Given the description of an element on the screen output the (x, y) to click on. 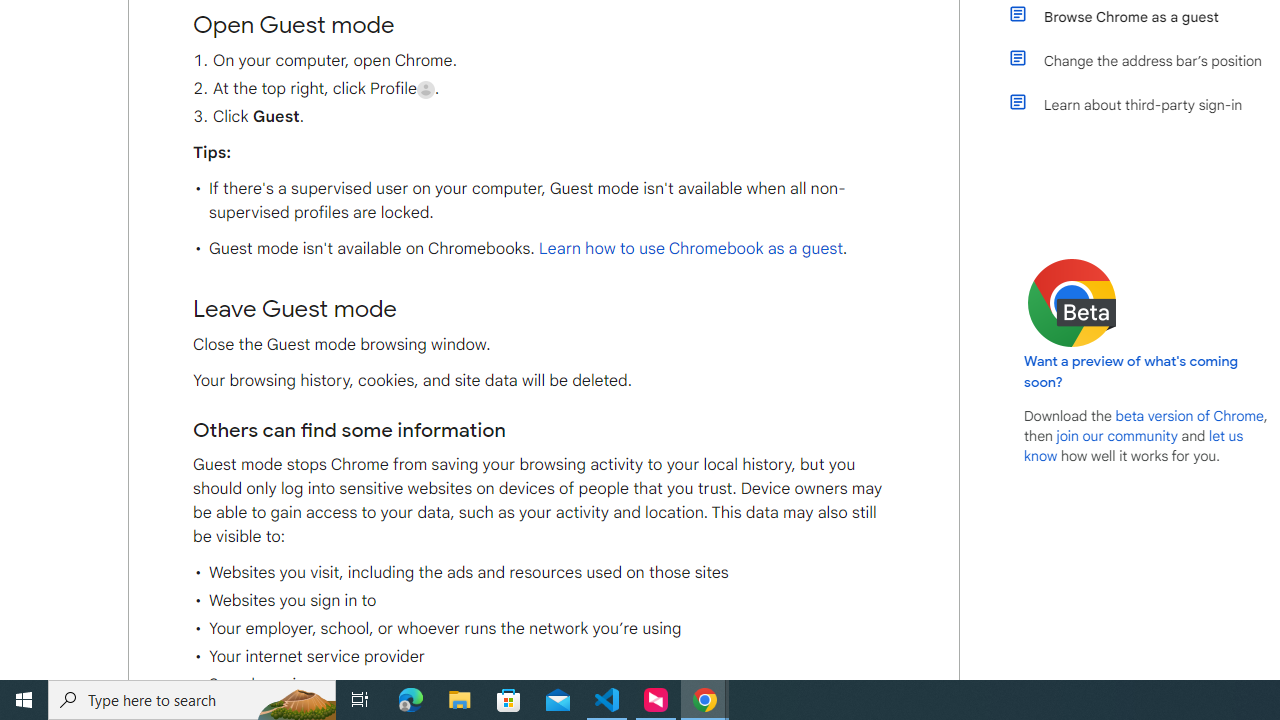
Learn how to use Chromebook as a guest (690, 249)
beta version of Chrome (1189, 415)
let us know (1134, 445)
join our community (1116, 435)
Profile (426, 89)
Want a preview of what's coming soon? (1131, 371)
Chrome Beta logo (1072, 302)
